Given the description of an element on the screen output the (x, y) to click on. 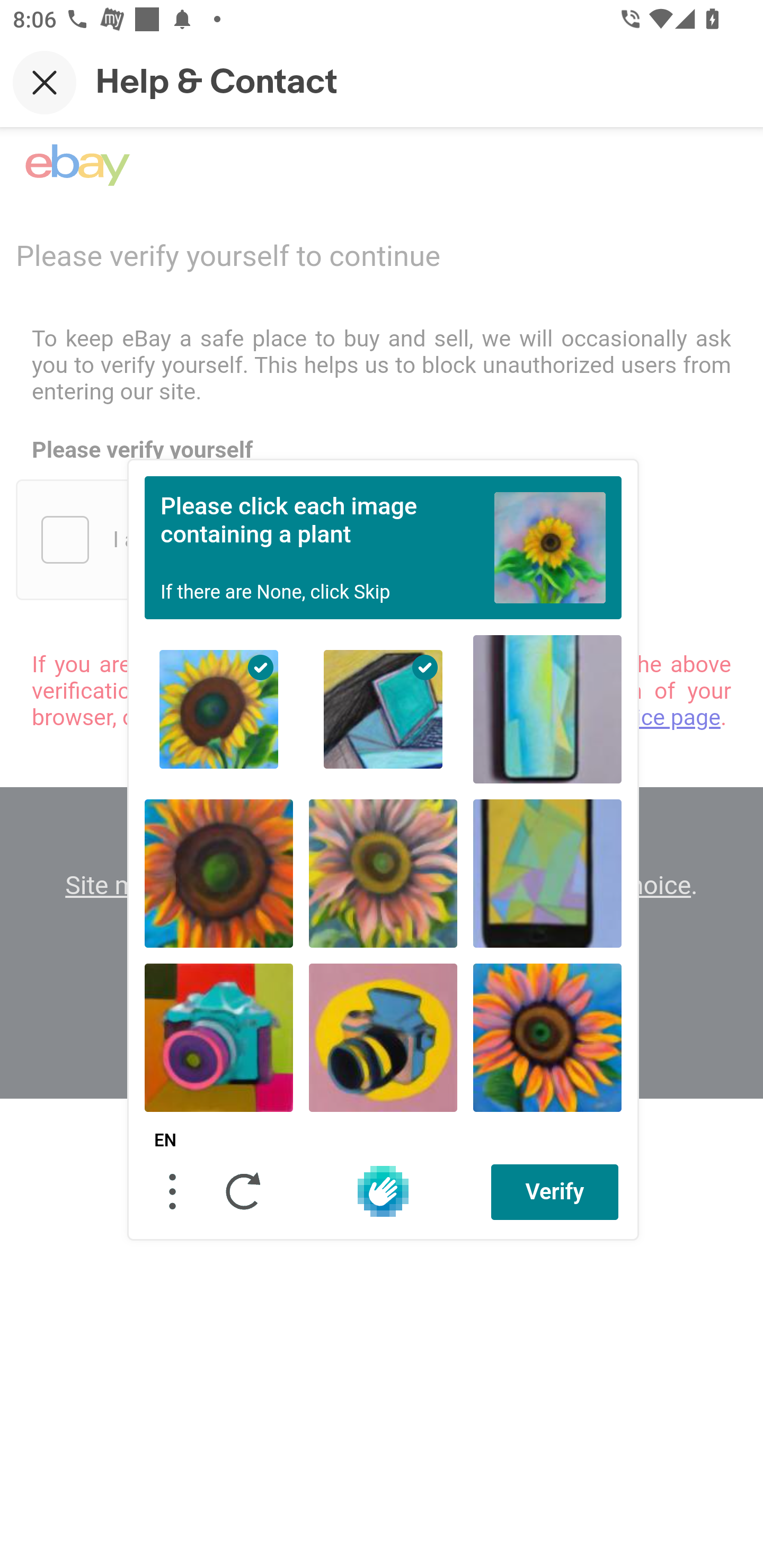
Close (44, 82)
eBay Home (77, 165)
Example image 1 (549, 546)
Challenge Image 1 (218, 708)
Challenge Image 2 (382, 708)
Challenge Image 3 (546, 708)
Challenge Image 4 (218, 873)
Challenge Image 5 (382, 873)
Challenge Image 6 (546, 873)
Challenge Image 7 (218, 1036)
Challenge Image 8 (382, 1036)
Challenge Image 9 (546, 1036)
Select a language English EN English (165, 1140)
English (165, 1140)
Verify Answers (554, 1191)
Refresh Challenge. (243, 1190)
hCaptcha (382, 1190)
